Given the description of an element on the screen output the (x, y) to click on. 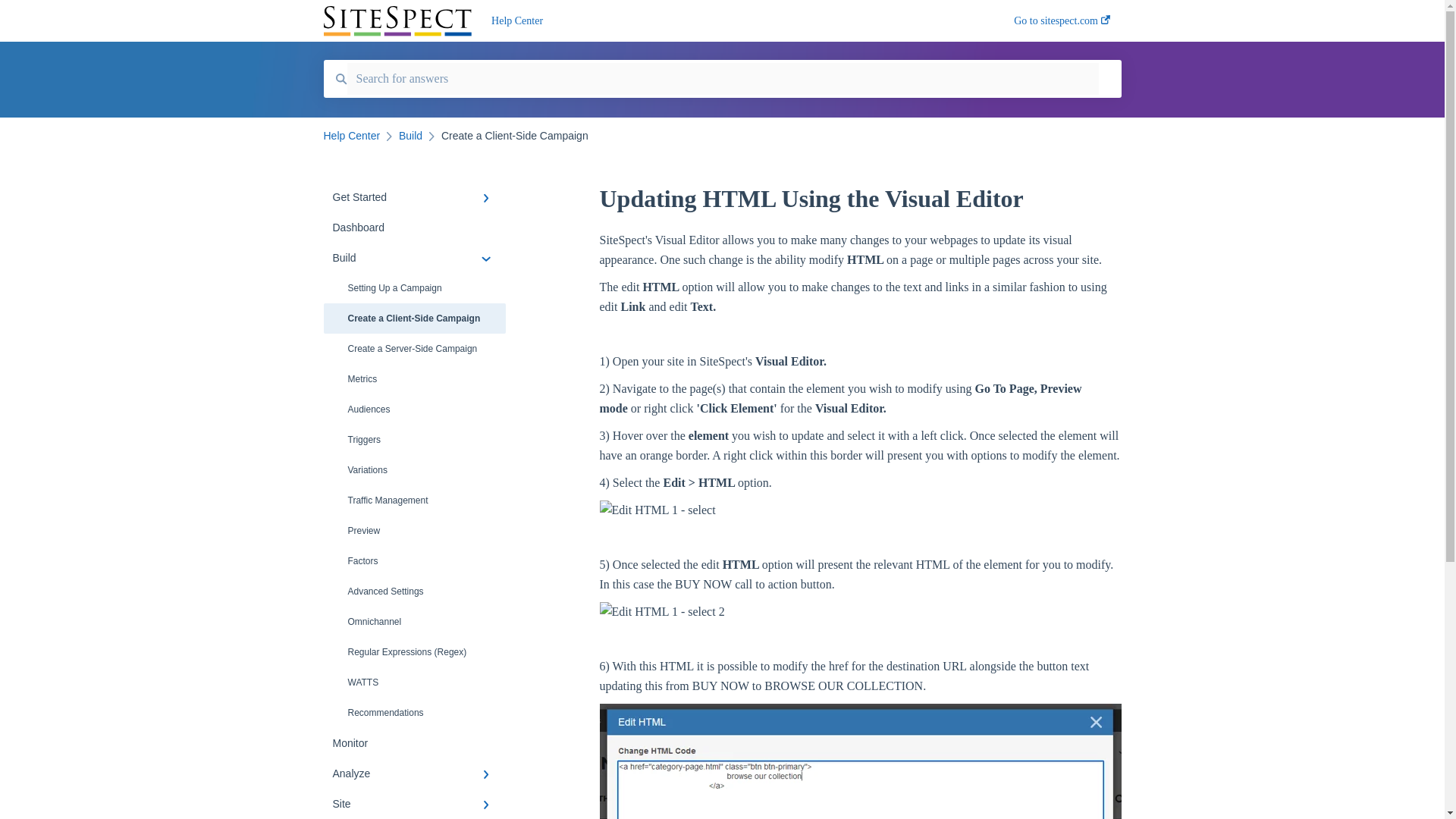
Help Center (730, 21)
Go to sitespect.com (1061, 25)
